Given the description of an element on the screen output the (x, y) to click on. 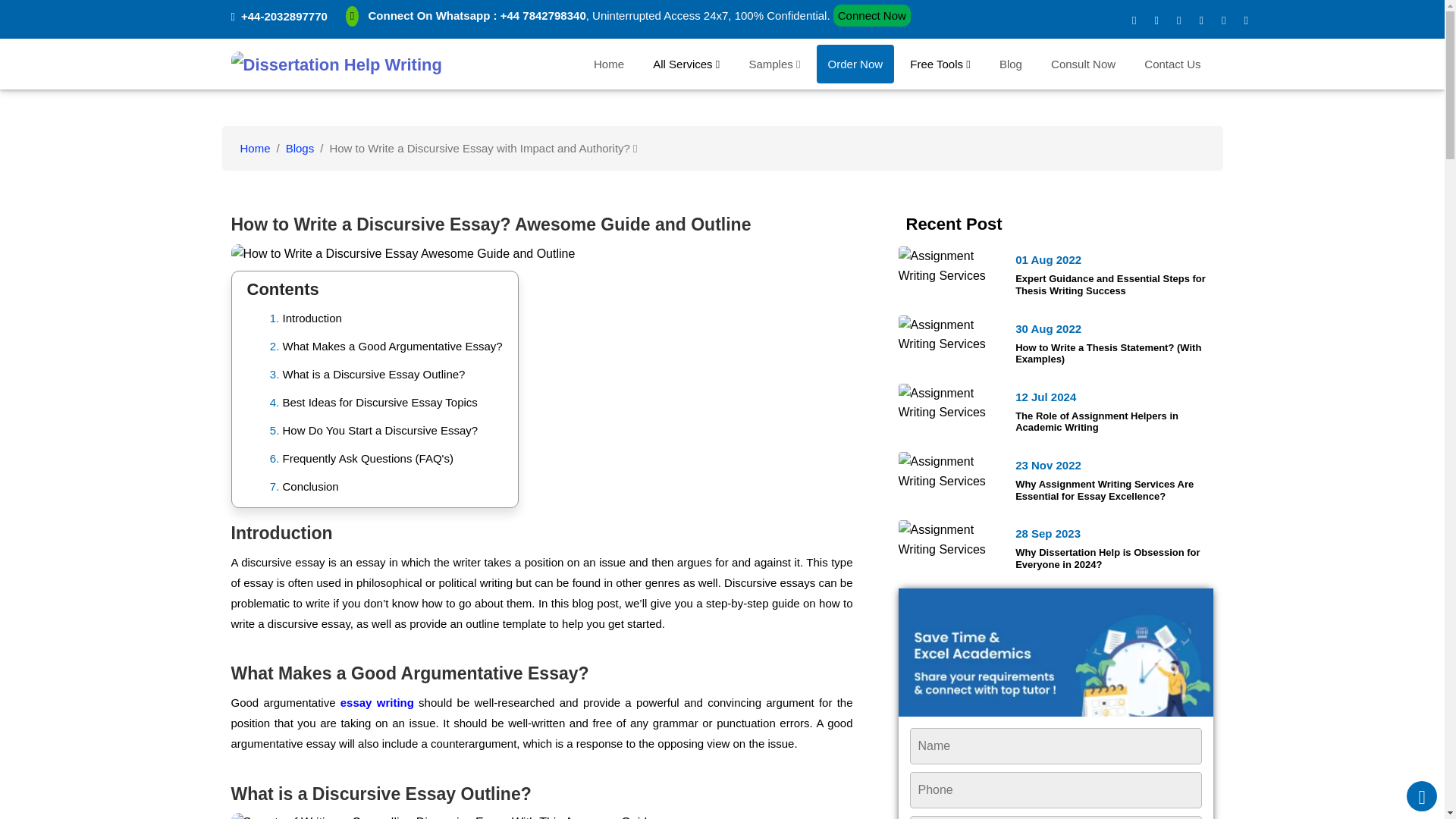
Go to top (1421, 796)
Home (608, 63)
Connect Now (871, 15)
All Services (686, 63)
